Given the description of an element on the screen output the (x, y) to click on. 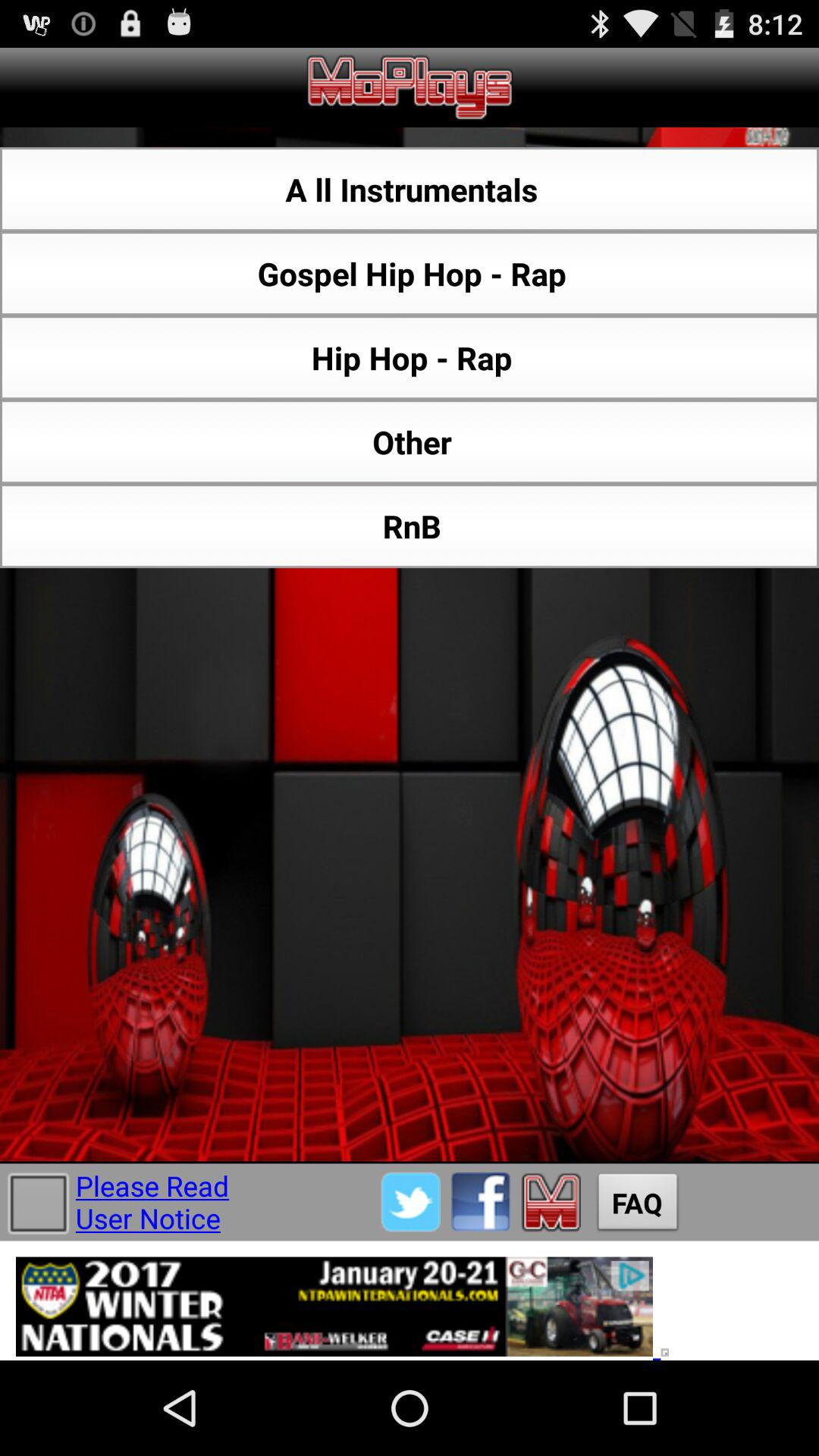
share via facebook (480, 1201)
